Given the description of an element on the screen output the (x, y) to click on. 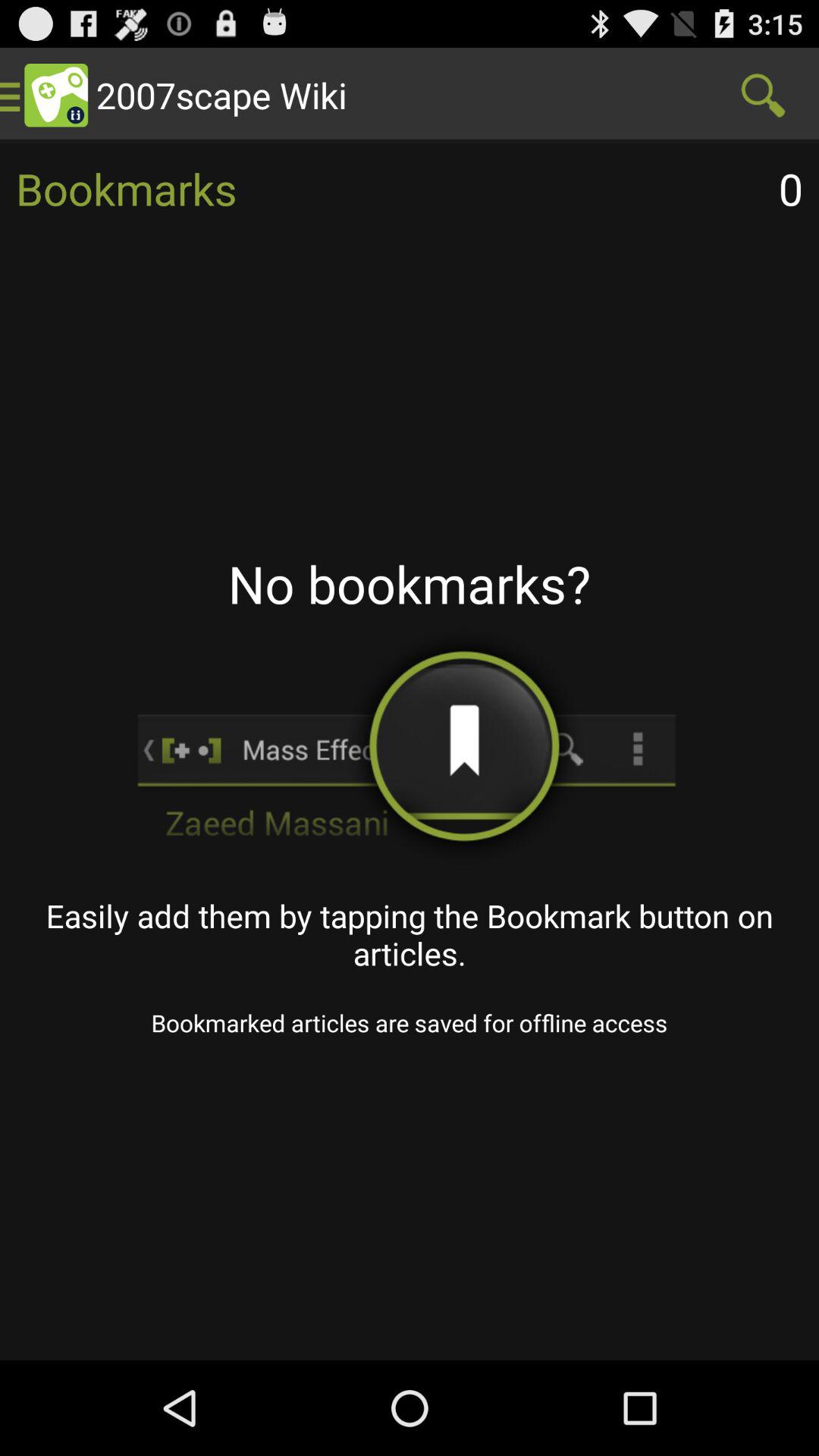
launch app above the 0 app (763, 95)
